Given the description of an element on the screen output the (x, y) to click on. 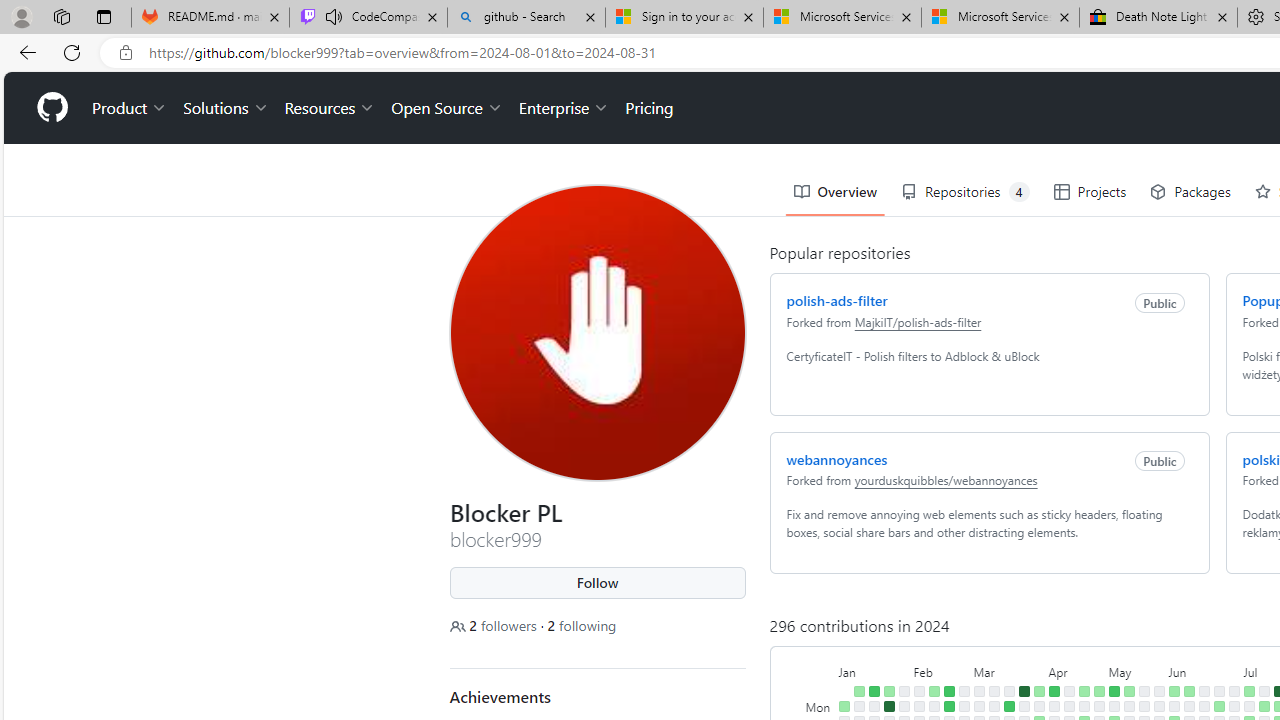
No contributions on May 26th. (1158, 691)
No contributions on February 26th. (963, 706)
10 contributions on March 24th. (1023, 691)
No contributions on July 1st. (1233, 706)
2 contributions on June 9th. (1188, 691)
